Given the description of an element on the screen output the (x, y) to click on. 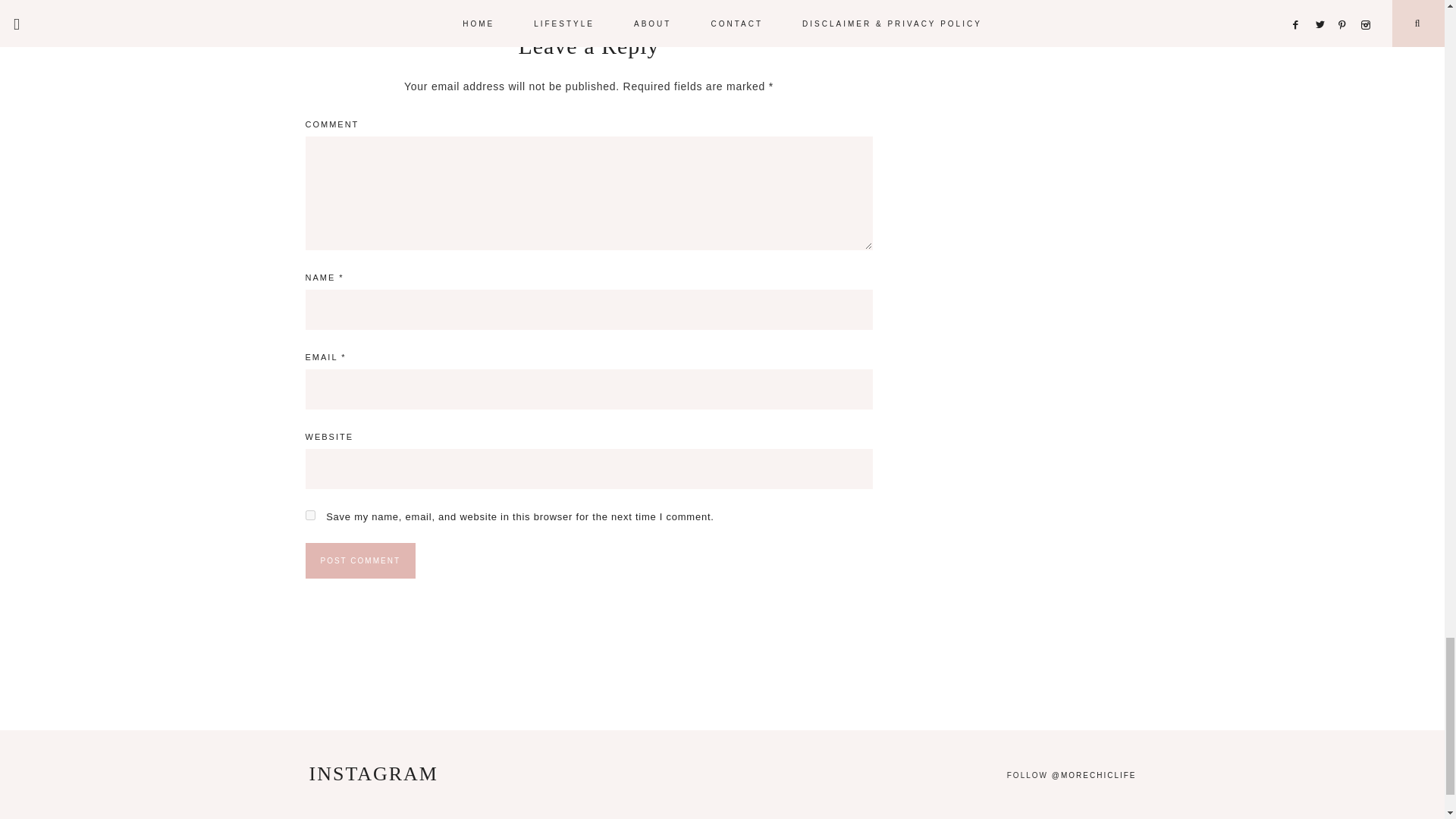
yes (309, 515)
Post Comment (359, 560)
